Given the description of an element on the screen output the (x, y) to click on. 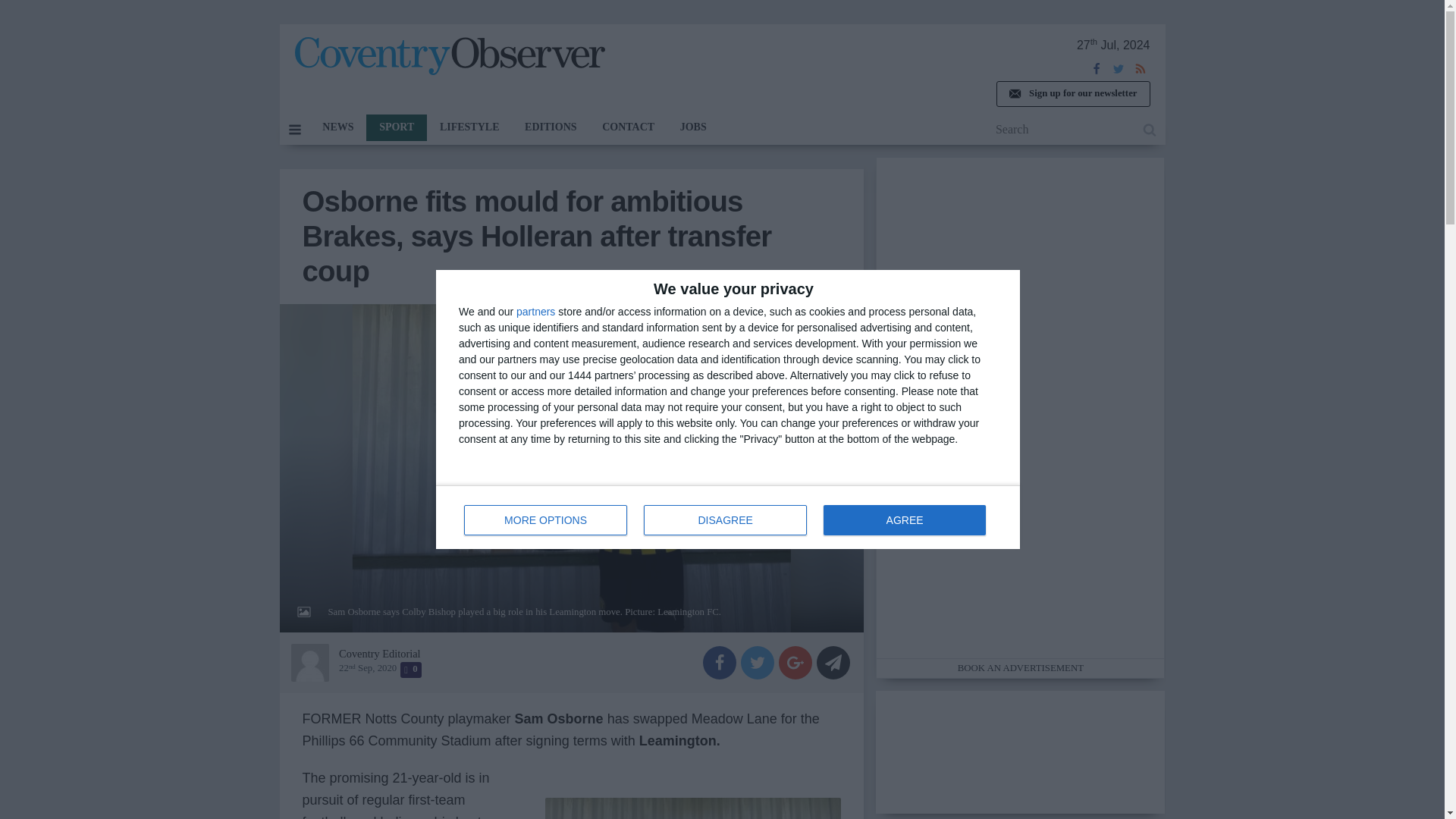
AGREE (904, 520)
  Sign up for our newsletter (1072, 94)
DISAGREE (724, 520)
MORE OPTIONS (545, 520)
partners (535, 311)
SPORT (396, 127)
The Coventry Observer (727, 516)
NEWS (449, 55)
LIFESTYLE (337, 127)
